Given the description of an element on the screen output the (x, y) to click on. 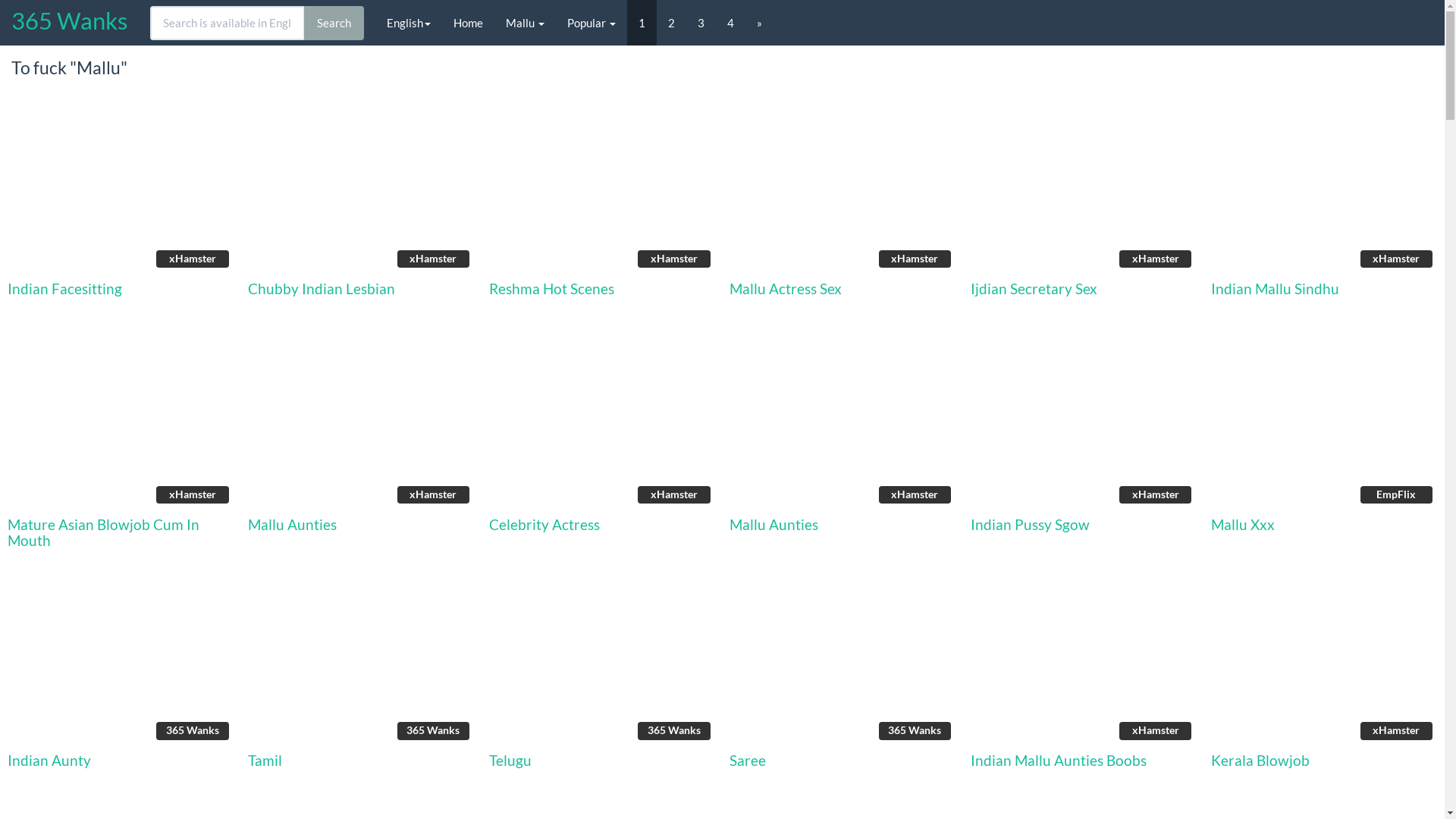
Mallu Aunties Element type: text (291, 524)
Mallu Xxx Element type: text (1242, 524)
2 Element type: text (671, 22)
Indian Facesitting Element type: text (64, 287)
365 Wanks Element type: text (601, 659)
365 Wanks Element type: text (69, 22)
Home Element type: text (468, 22)
xHamster Element type: text (601, 188)
365 Wanks Element type: text (119, 659)
EmpFlix Element type: text (1323, 423)
Indian Mallu Sindhu Element type: text (1275, 287)
Indian Mallu Aunties Boobs Element type: text (1058, 759)
Celebrity Actress Element type: text (544, 524)
3 Element type: text (700, 22)
xHamster Element type: text (119, 188)
Reshma Hot Scenes Element type: text (551, 287)
Mallu Actress Sex Element type: text (785, 287)
xHamster Element type: text (1323, 659)
xHamster Element type: text (1323, 188)
Saree Element type: text (747, 759)
xHamster Element type: text (841, 188)
xHamster Element type: text (360, 423)
Indian Aunty Element type: text (49, 759)
Tamil Element type: text (264, 759)
Popular Element type: text (591, 22)
Mature Asian Blowjob Cum In Mouth Element type: text (103, 532)
xHamster Element type: text (360, 188)
365 Wanks Element type: text (841, 659)
xHamster Element type: text (841, 423)
Chubby Indian Lesbian Element type: text (321, 287)
4 Element type: text (730, 22)
Indian Pussy Sgow Element type: text (1029, 524)
English Element type: text (408, 22)
xHamster Element type: text (1082, 188)
Kerala Blowjob Element type: text (1260, 759)
xHamster Element type: text (1082, 423)
Mallu Element type: text (524, 22)
Ijdian Secretary Sex Element type: text (1033, 287)
1 Element type: text (641, 22)
xHamster Element type: text (601, 423)
xHamster Element type: text (119, 423)
Search Element type: text (334, 23)
xHamster Element type: text (1082, 659)
Telugu Element type: text (510, 759)
365 Wanks Element type: text (360, 659)
Mallu Aunties Element type: text (773, 524)
